Given the description of an element on the screen output the (x, y) to click on. 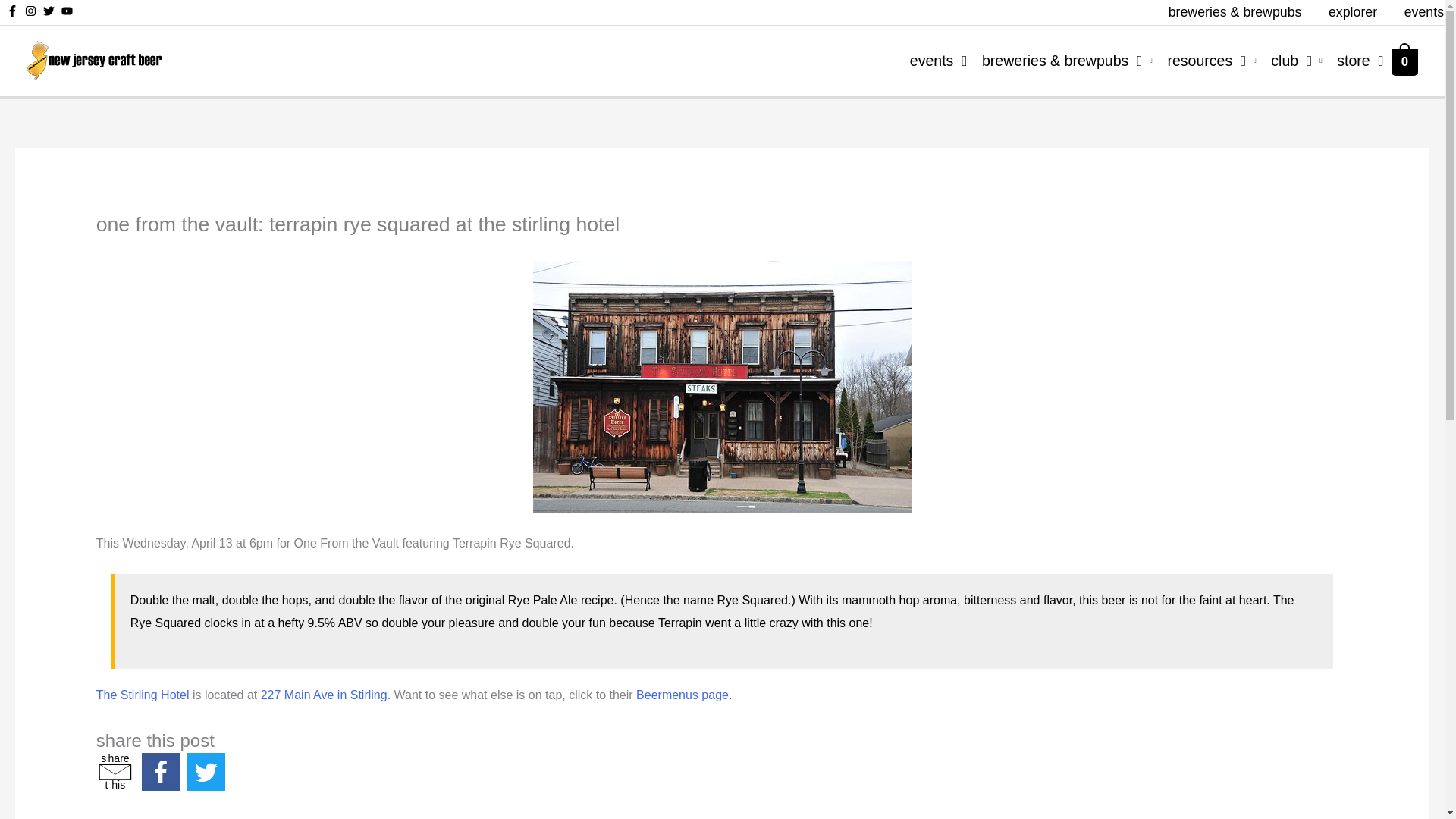
New Jersey Breweries and Brewpubs (114, 771)
events (1058, 60)
events   (1417, 11)
NJCB Store (930, 60)
NJCB Events and News (1353, 60)
resources   (930, 60)
explorer (1204, 60)
NJCB Membership Club (1352, 11)
club   (1289, 60)
NJCB Beer Resources (1289, 60)
